Given the description of an element on the screen output the (x, y) to click on. 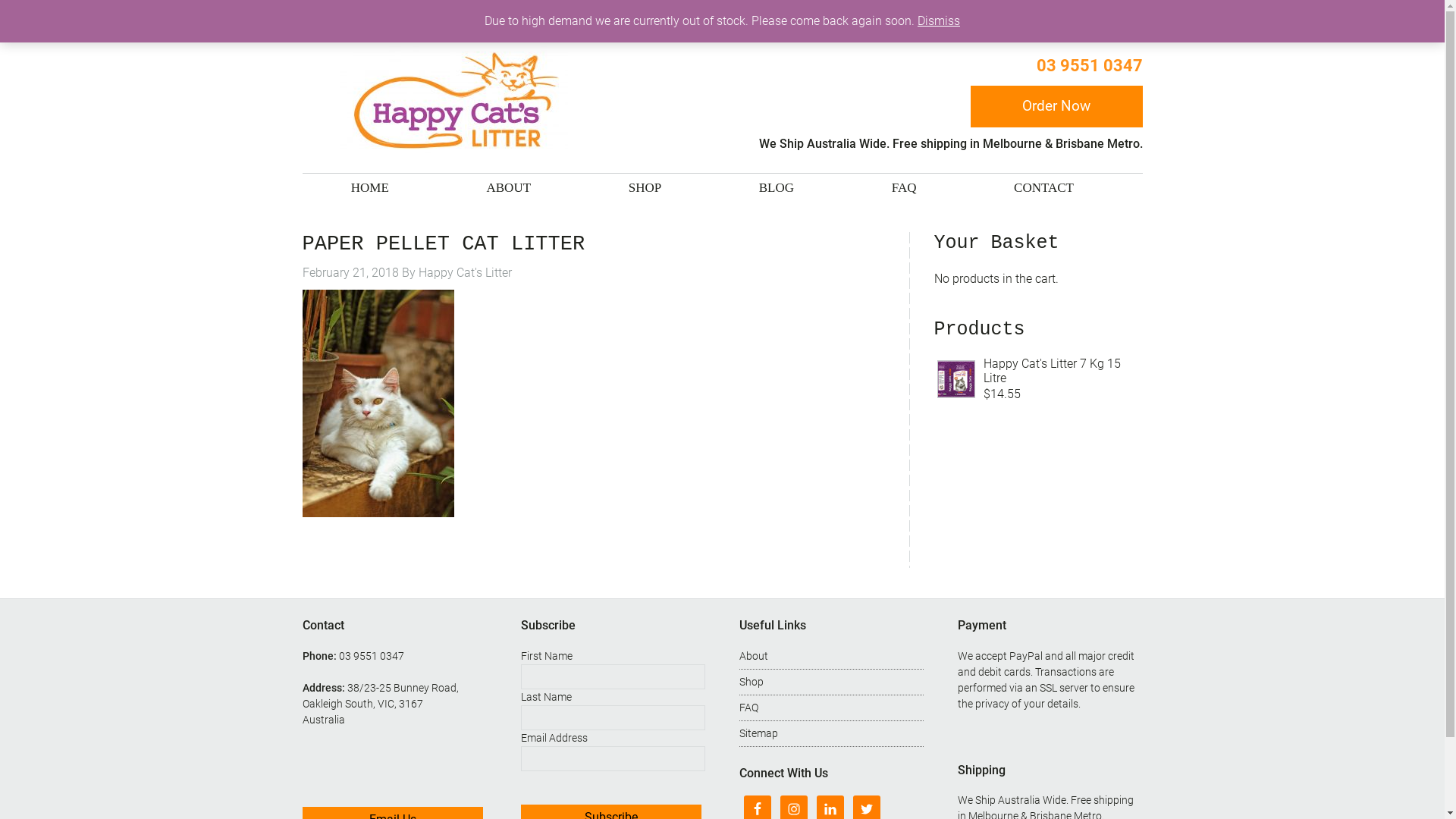
Sitemap Element type: text (758, 733)
HAPPY CAT'S LITTER Element type: text (453, 101)
FAQ Element type: text (903, 187)
BLOG Element type: text (776, 187)
Order Now Element type: text (1056, 105)
HOME Element type: text (369, 187)
Happy Cat's Litter 7 Kg 15 Litre Element type: text (1062, 370)
SHOP Element type: text (644, 187)
About Element type: text (753, 655)
Skip to primary navigation Element type: text (0, 0)
ABOUT Element type: text (508, 187)
MY ACCOUNT Element type: text (819, 15)
Shop Element type: text (751, 681)
03 9551 0347 Element type: text (370, 655)
Go Element type: text (1142, 5)
Dismiss Element type: text (938, 20)
CONTACT Element type: text (1043, 187)
CART Element type: text (896, 15)
03 9551 0347 Element type: text (1088, 65)
FAQ Element type: text (748, 707)
Happy Cat's Litter Element type: text (464, 272)
